Given the description of an element on the screen output the (x, y) to click on. 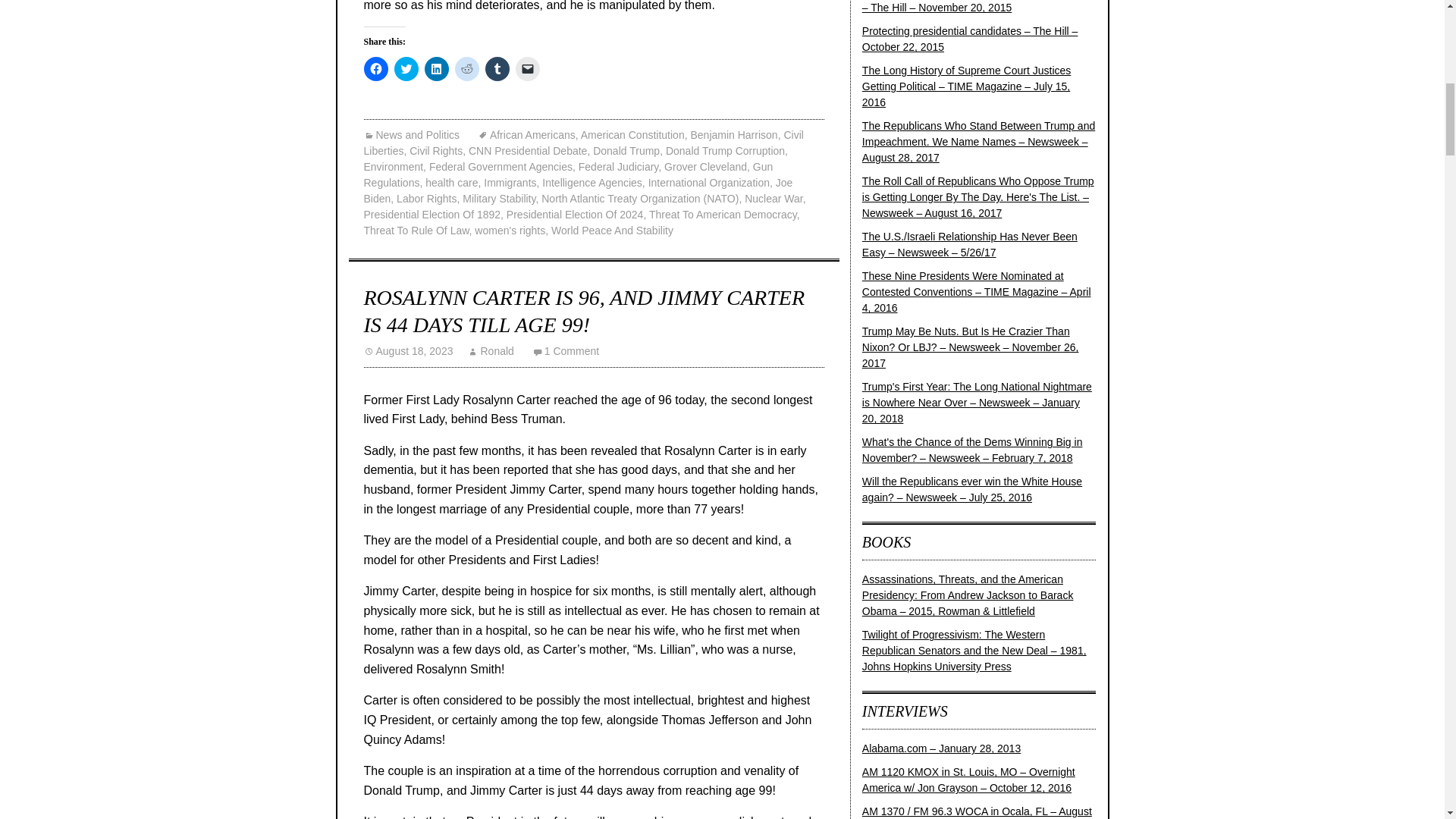
Click to share on LinkedIn (436, 68)
African Americans (526, 134)
Benjamin Harrison (733, 134)
Federal Government Agencies (500, 166)
Donald Trump (625, 150)
International Organization (708, 182)
Click to share on Twitter (406, 68)
Click to share on Facebook (376, 68)
Civil Liberties (583, 142)
View all posts by Ronald (490, 350)
Joe Biden (578, 190)
Click to share on Reddit (466, 68)
American Constitution (632, 134)
Civil Rights (436, 150)
Donald Trump Corruption (724, 150)
